Given the description of an element on the screen output the (x, y) to click on. 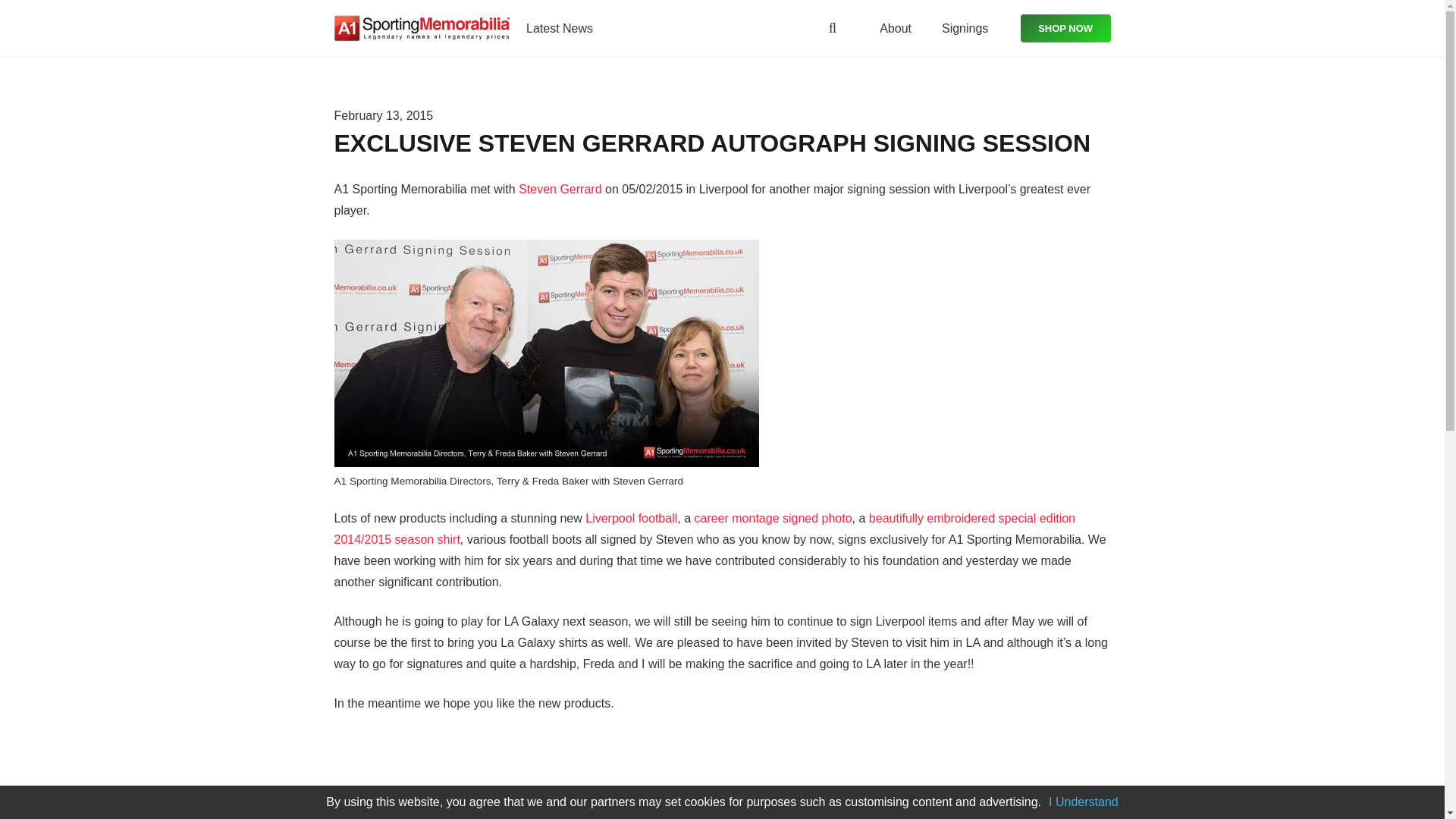
career montage signed photo (772, 517)
Signings (964, 27)
SHOP NOW (1065, 27)
Steven Gerrard (559, 188)
Liverpool football (631, 517)
About (895, 27)
